Given the description of an element on the screen output the (x, y) to click on. 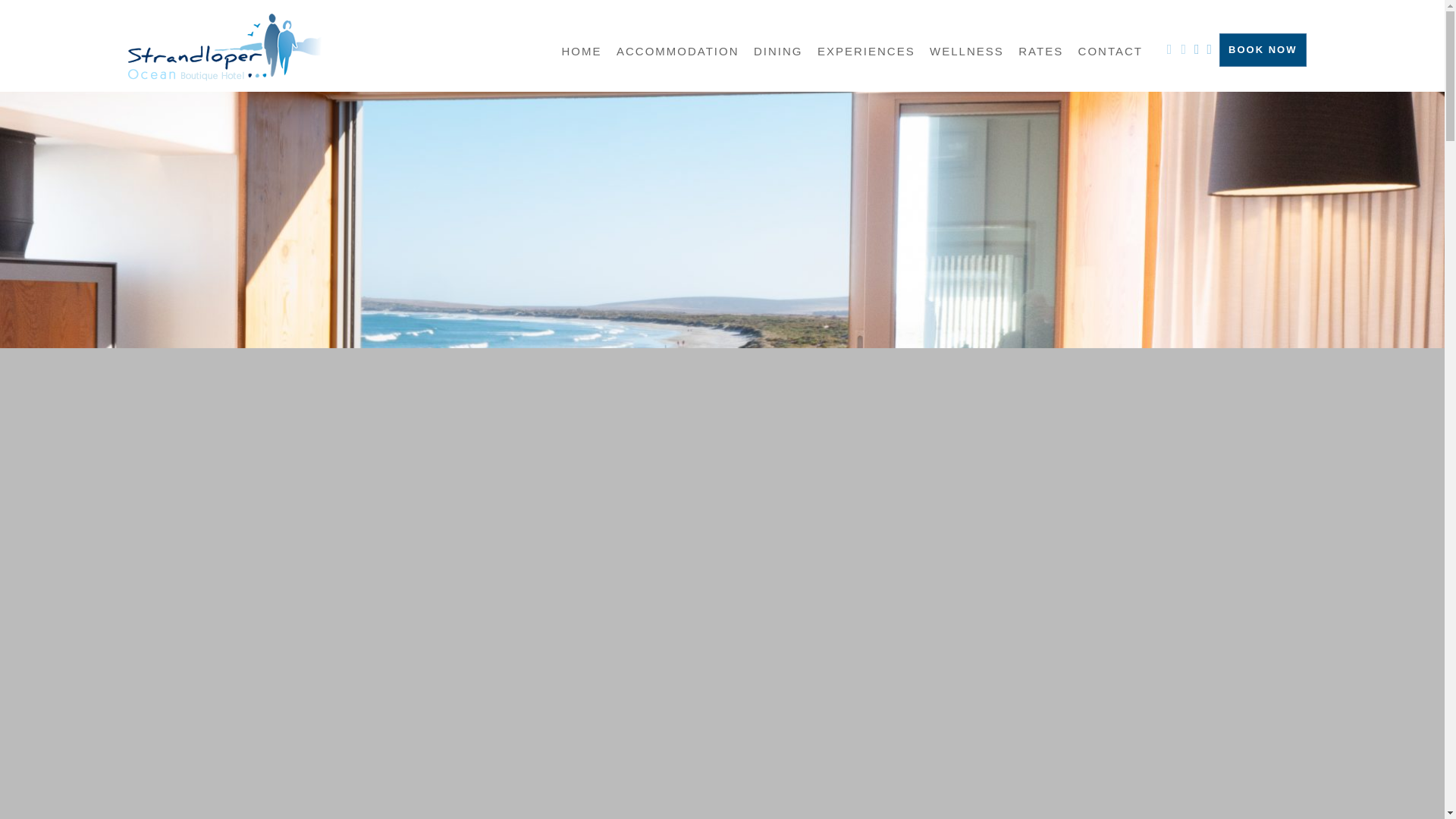
RATES (1039, 54)
ACCOMMODATION (677, 54)
EXPERIENCES (865, 54)
DINING (778, 54)
WELLNESS (967, 54)
BOOK NOW (1263, 49)
CONTACT (1110, 54)
HOME (582, 54)
